Given the description of an element on the screen output the (x, y) to click on. 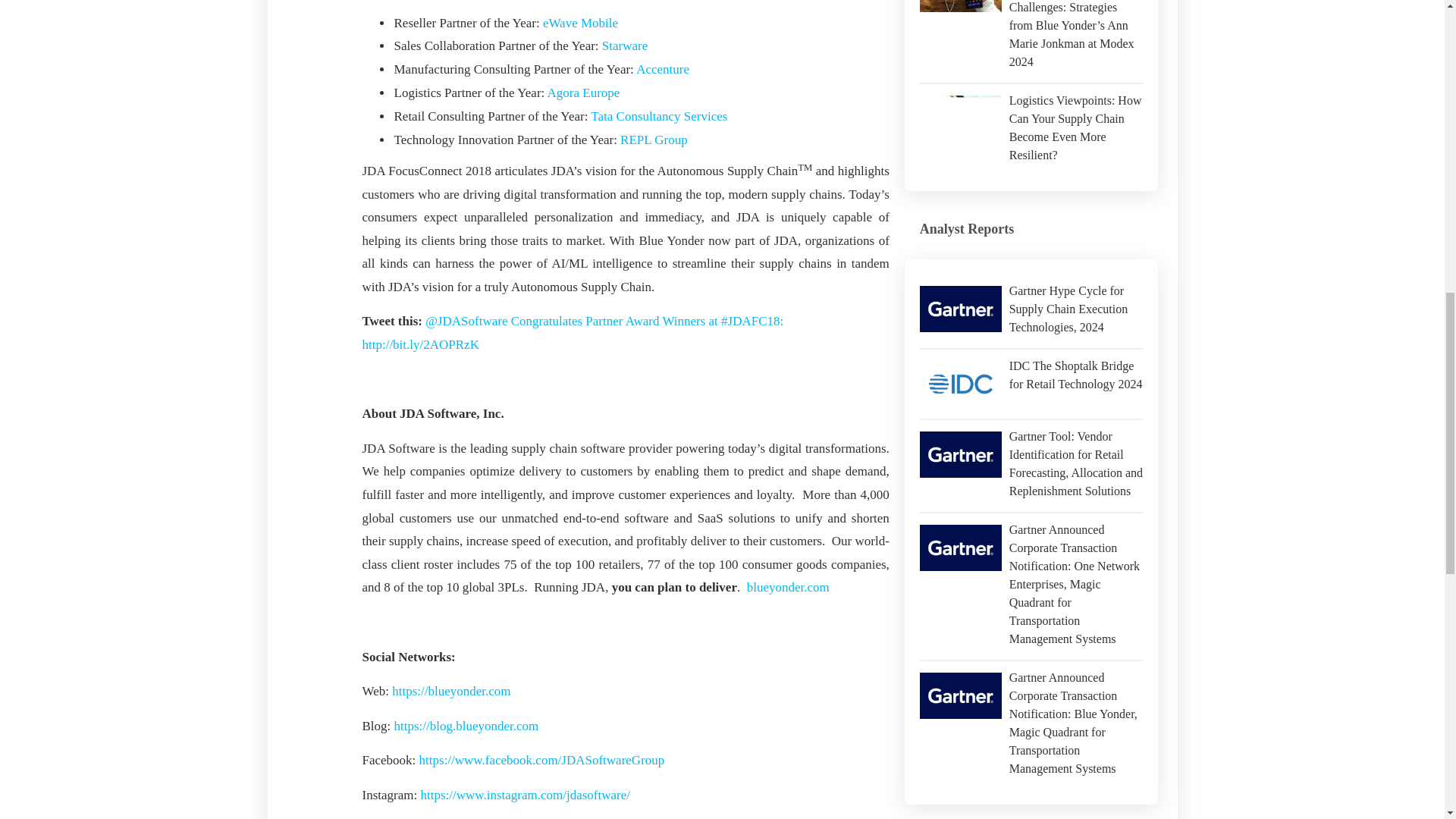
eWave Mobile (580, 22)
IDC The Shoptalk Bridge for Retail Technology 2024 (960, 384)
Starware (624, 45)
Accenture (662, 69)
